Given the description of an element on the screen output the (x, y) to click on. 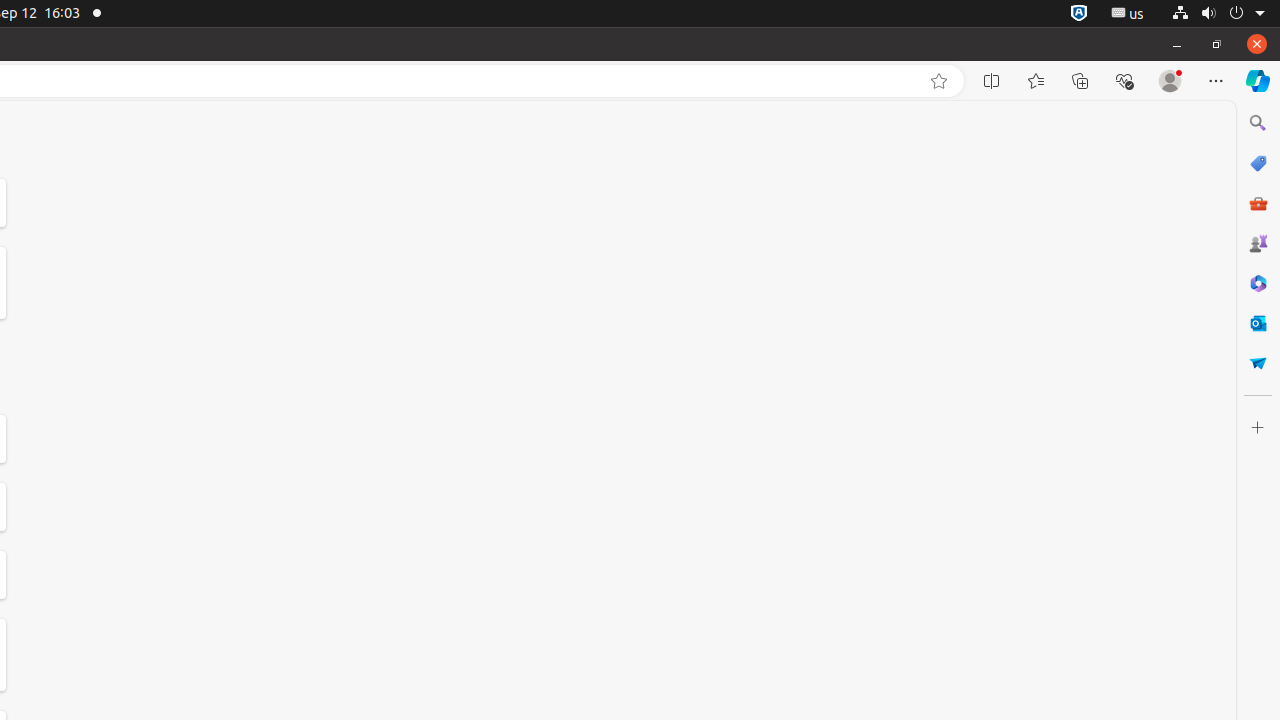
Tools Element type: push-button (1258, 202)
System Element type: menu (1218, 13)
Customize Element type: push-button (1258, 428)
:1.21/StatusNotifierItem Element type: menu (1127, 13)
Profile 1 Profile, Please sign in Element type: push-button (1170, 81)
